Given the description of an element on the screen output the (x, y) to click on. 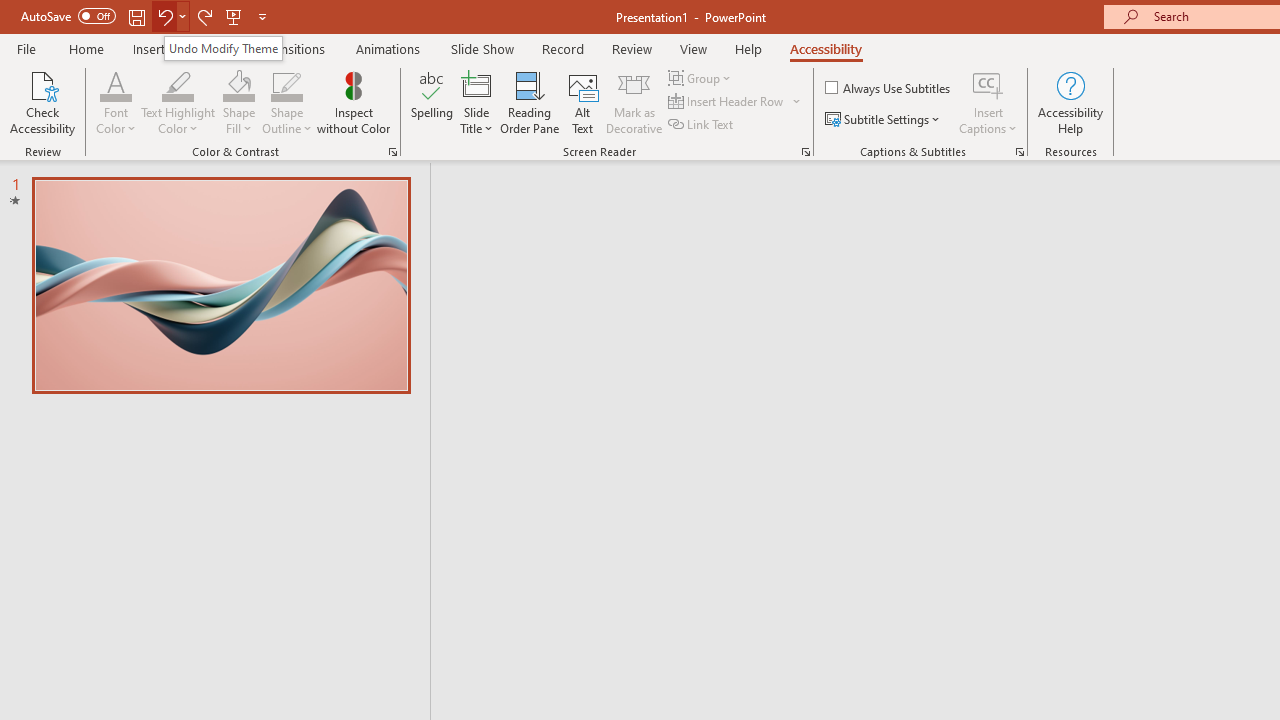
Shape Outline Blue, Accent 1 (286, 84)
Color & Contrast (392, 151)
Always Use Subtitles (889, 87)
